Given the description of an element on the screen output the (x, y) to click on. 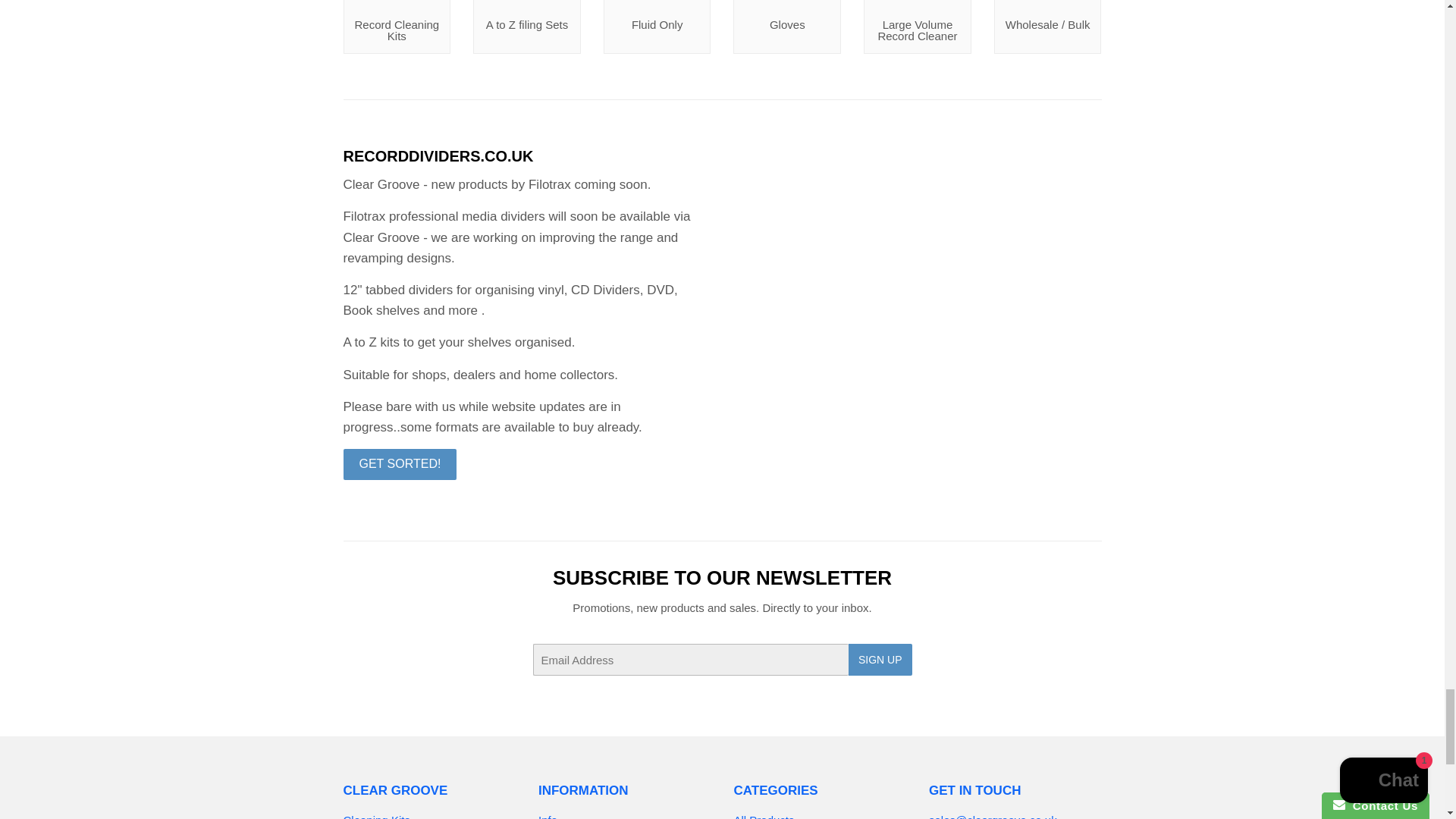
Browse our Gloves collection (787, 27)
Browse our A to Z filing Sets collection (526, 27)
Browse our Fluid Only collection (657, 27)
Contact Us (992, 816)
Browse our Record Cleaning Kits collection (395, 27)
Browse our Large Volume Record Cleaner collection (917, 27)
